Given the description of an element on the screen output the (x, y) to click on. 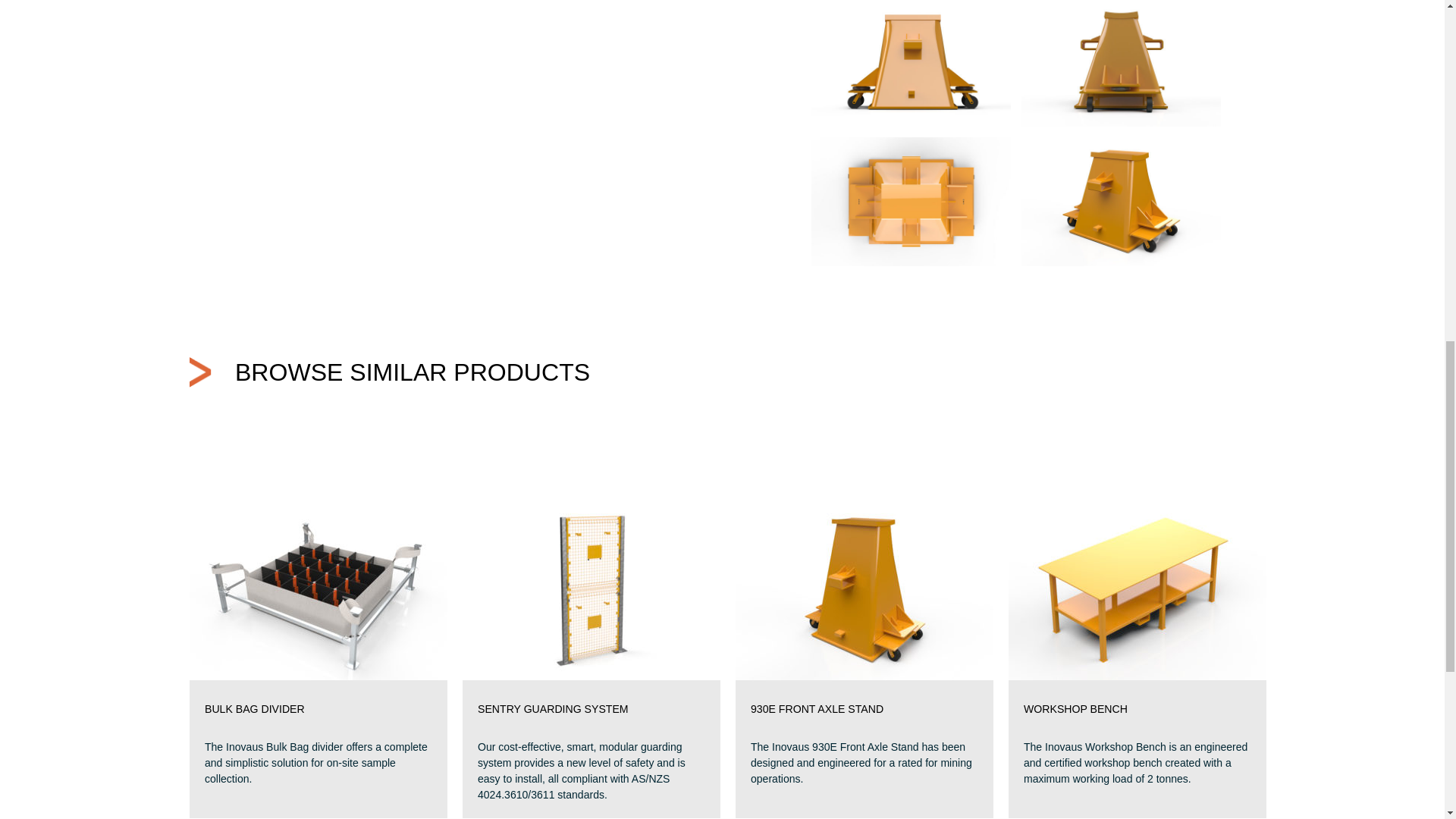
930E FRONT AXLE STAND (864, 709)
BULK BAG DIVIDER (318, 709)
SENTRY GUARDING SYSTEM (590, 709)
WORKSHOP BENCH (1136, 709)
